Given the description of an element on the screen output the (x, y) to click on. 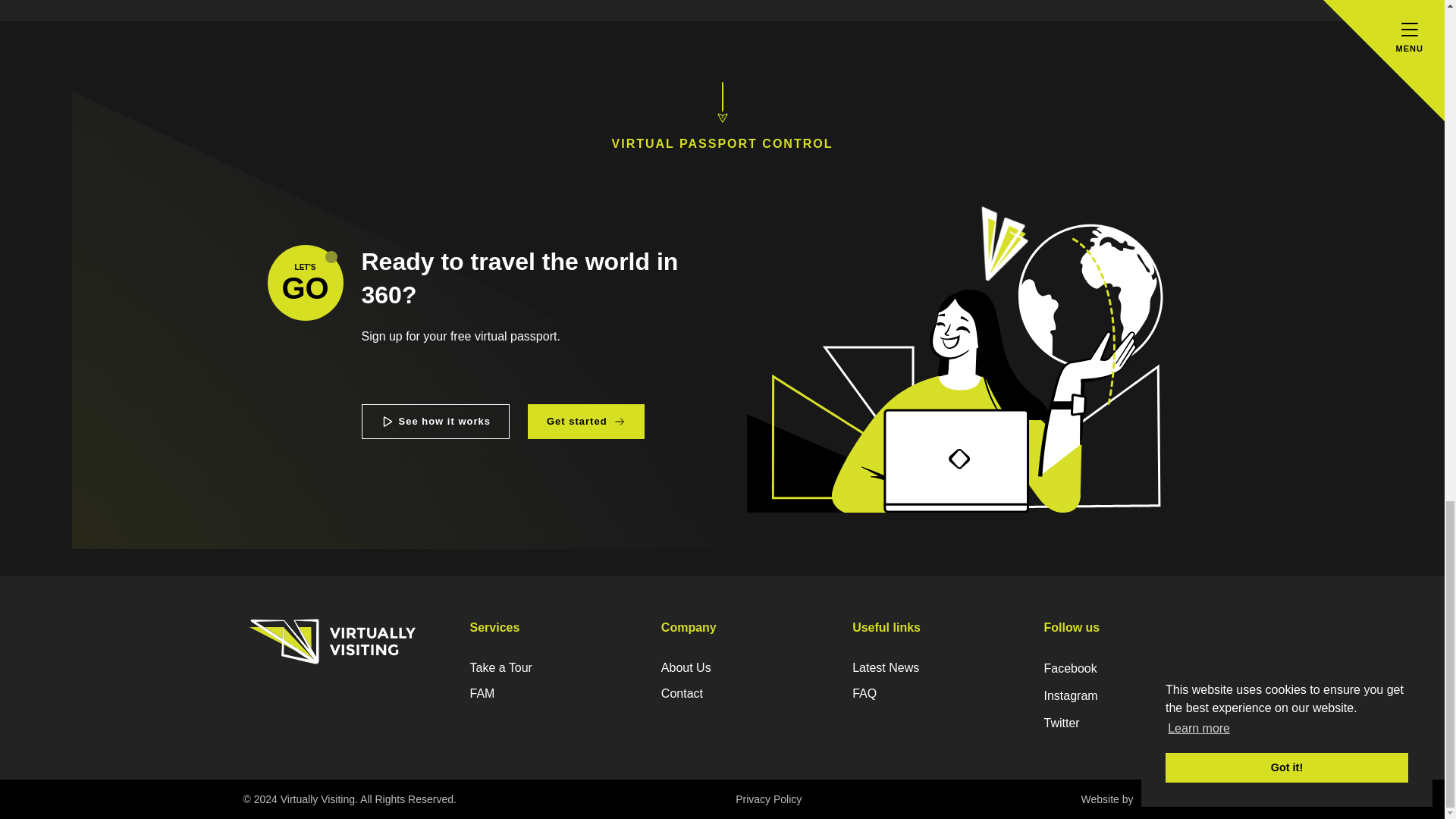
Facebook (1119, 668)
About Us (736, 667)
See how it works (434, 421)
Privacy Policy (768, 798)
Contact (736, 694)
Instagram (1119, 695)
Twitter (1119, 723)
Latest News (927, 667)
FAQ (927, 694)
Take a Tour (545, 667)
Get started (304, 282)
Get started (618, 421)
FAM (586, 421)
